Given the description of an element on the screen output the (x, y) to click on. 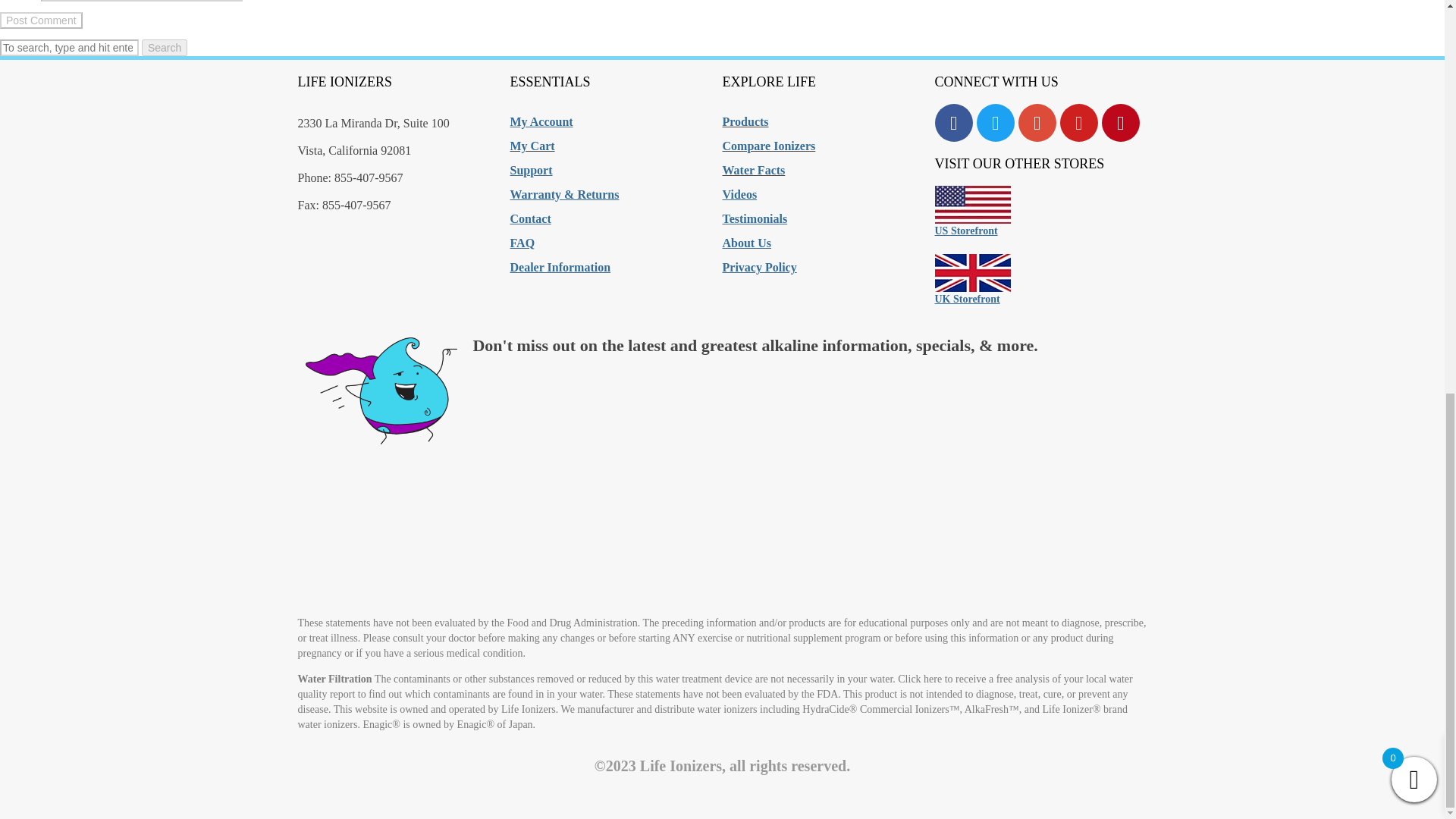
Post Comment (41, 20)
